Given the description of an element on the screen output the (x, y) to click on. 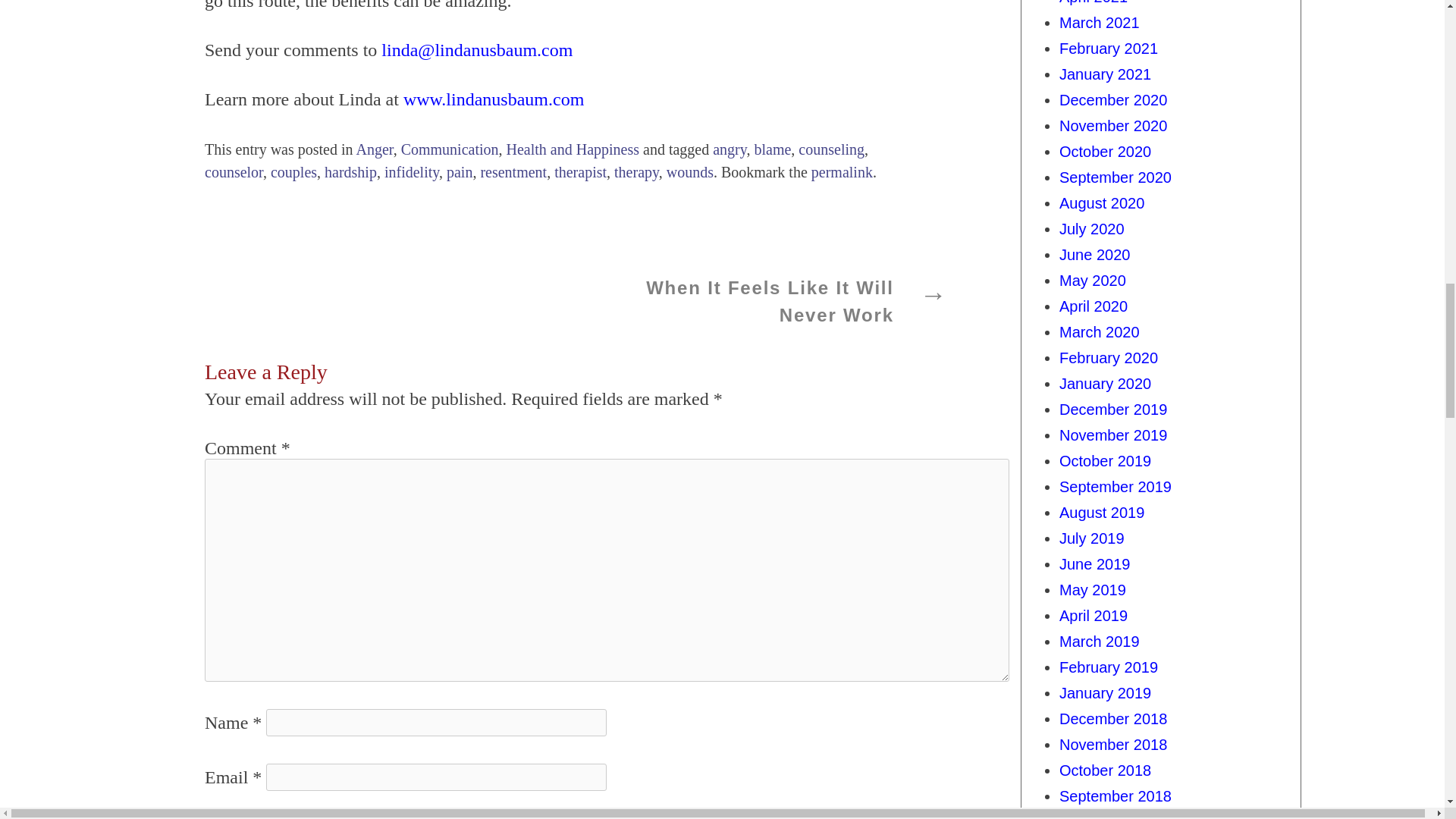
Health and Happiness (573, 149)
angry (729, 149)
Anger (374, 149)
couples (293, 171)
pain (458, 171)
hardship (350, 171)
counseling (830, 149)
Communication (450, 149)
therapist (580, 171)
blame (772, 149)
infidelity (411, 171)
www.lindanusbaum.com (493, 98)
therapy (636, 171)
wounds (689, 171)
counselor (234, 171)
